Given the description of an element on the screen output the (x, y) to click on. 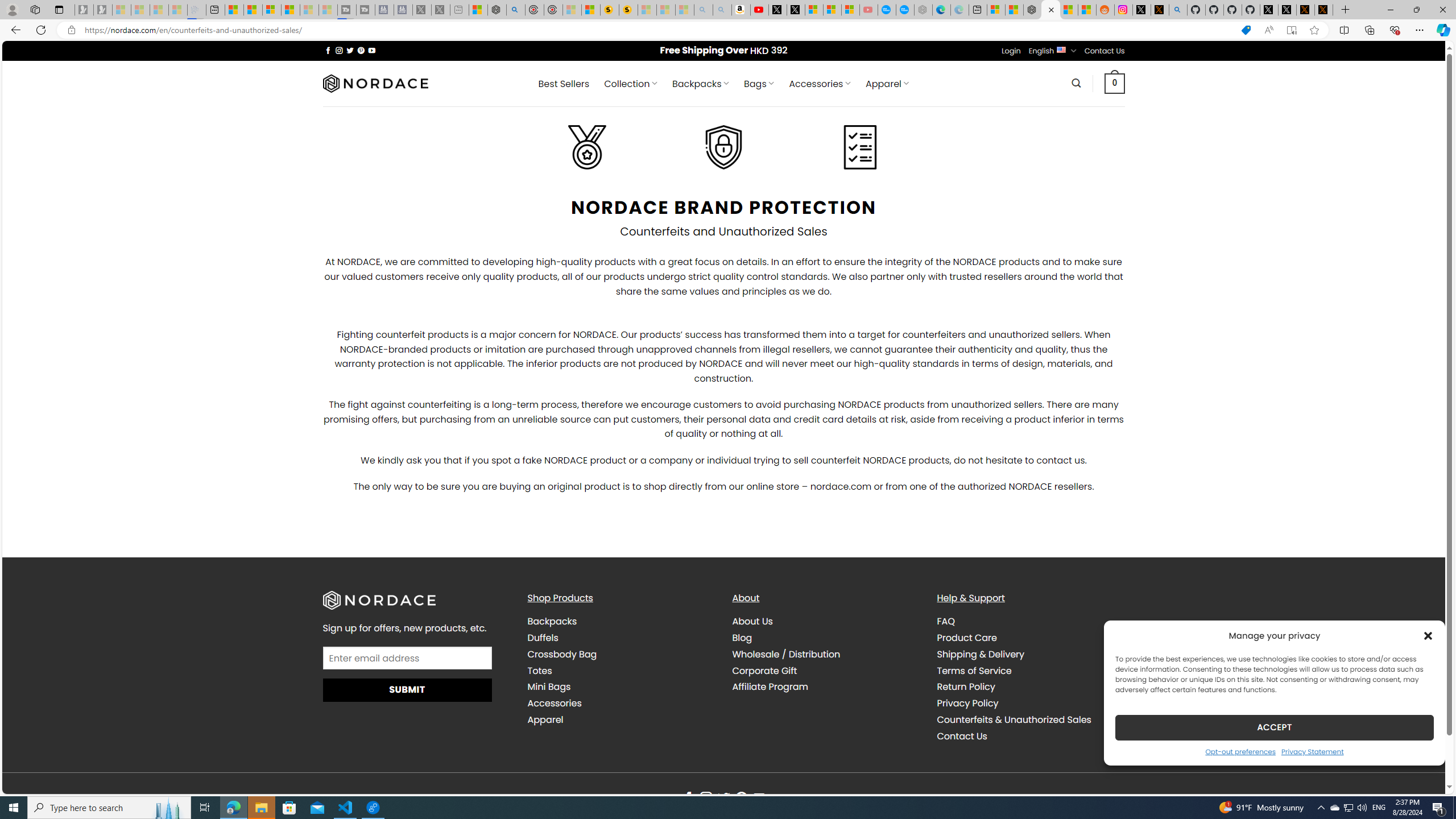
Enter Immersive Reader (F9) (1291, 29)
Counterfeits & Unauthorized Sales (1014, 719)
Opinion: Op-Ed and Commentary - USA TODAY (887, 9)
Log in to X / X (1142, 9)
Nordace - Nordace has arrived Hong Kong - Sleeping (923, 9)
About Us (752, 621)
Follow on YouTube (758, 798)
Privacy Statement (1312, 750)
Follow on Pinterest (740, 798)
